Given the description of an element on the screen output the (x, y) to click on. 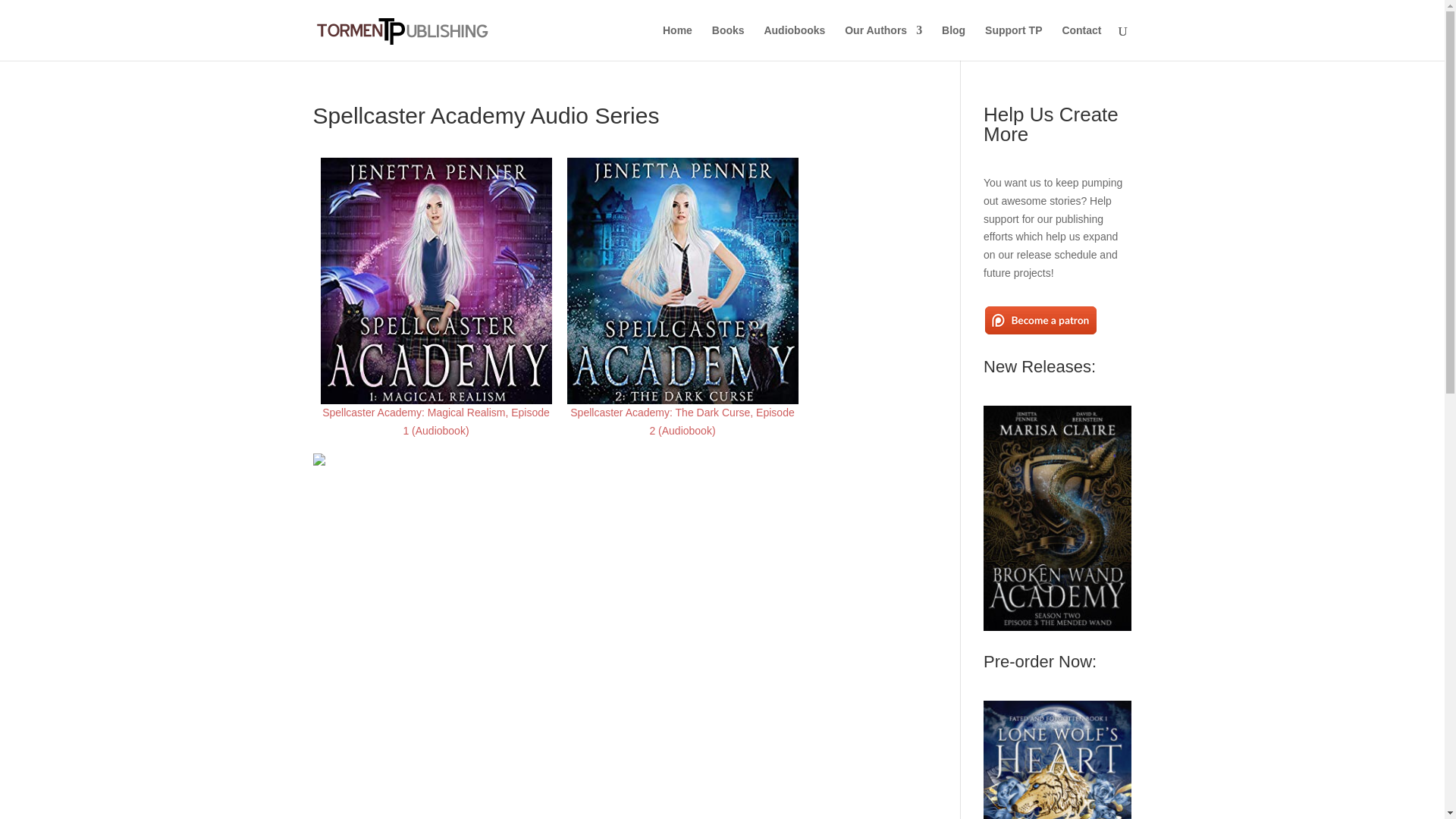
Contact (1080, 42)
Audiobooks (793, 42)
Support TP (1013, 42)
Books (727, 42)
Our Authors (882, 42)
